Given the description of an element on the screen output the (x, y) to click on. 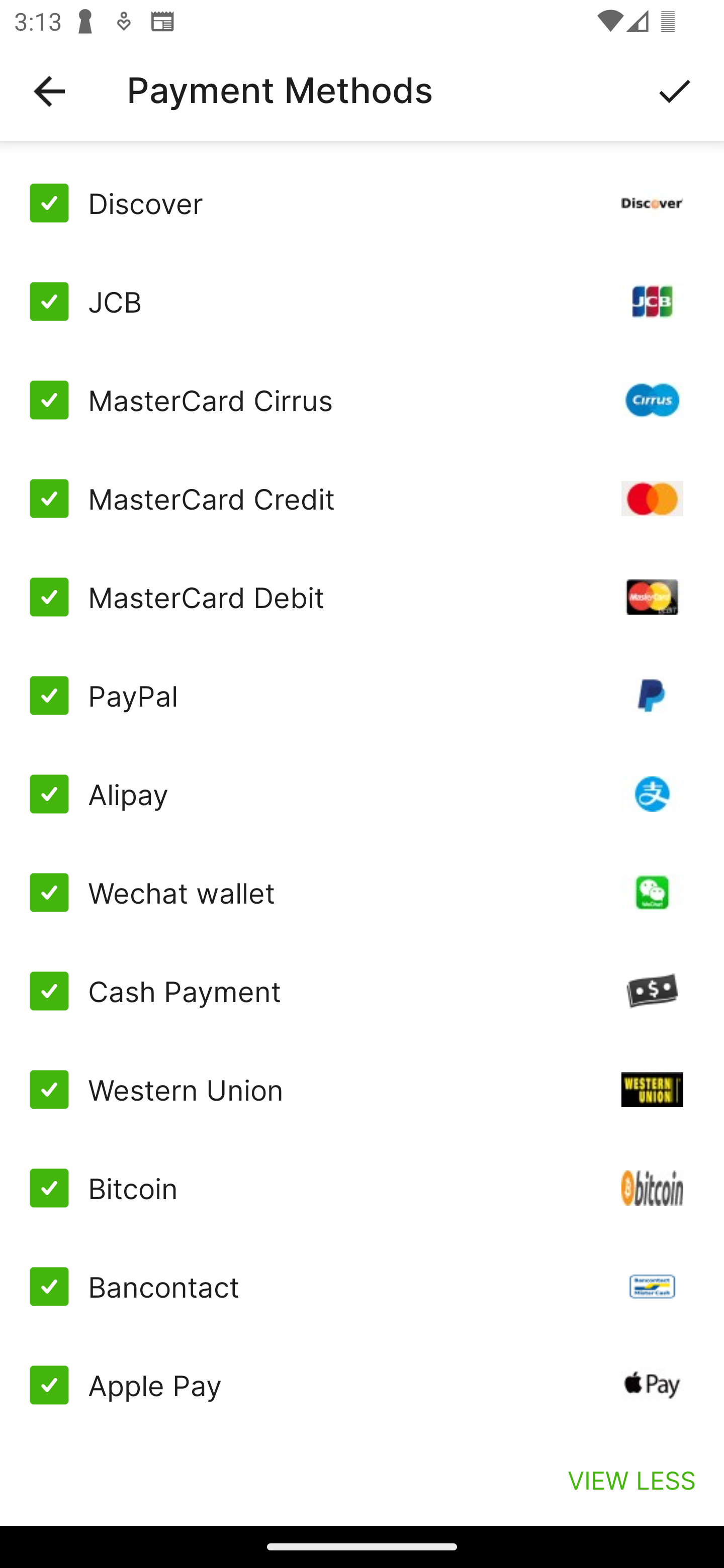
Discover (362, 202)
JCB (362, 301)
MasterCard Cirrus (362, 400)
MasterCard Credit (362, 498)
MasterCard Debit (362, 596)
PayPal (362, 695)
Alipay (362, 793)
Wechat wallet (362, 892)
Cash Payment (362, 990)
Western Union (362, 1088)
Bitcoin (362, 1187)
Bancontact (362, 1286)
Apple Pay (362, 1384)
VIEW LESS (631, 1479)
